Given the description of an element on the screen output the (x, y) to click on. 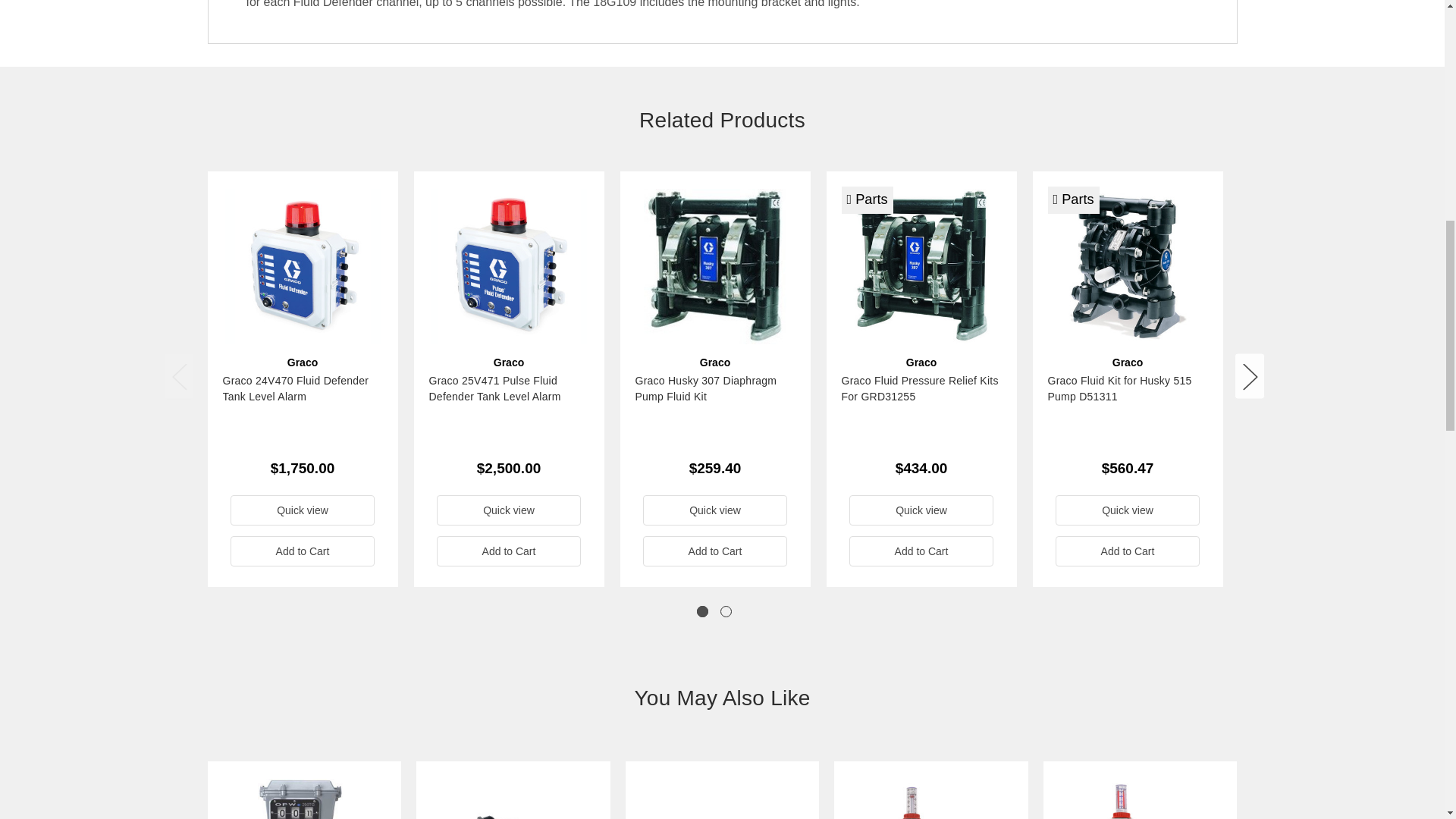
Graco Fluid Pressure Relief Kits For GRD31255 (920, 266)
Graco 25V475 Fluid Defender High Level Sensor, 3 ft. L (512, 798)
Graco 24V470 Fluid Defender Tank Level Alarm (302, 266)
Graco Fluid Kit for Husky 515 Pump D51311 (1127, 266)
Graco Husky 307 Diaphragm Pump Fluid Kit (714, 266)
You May Also Like (722, 698)
Graco 25V471 Pulse Fluid Defender Tank Level Alarm (508, 266)
OPW 200TG 2in. Female NPT Tank Gauges (304, 798)
